Given the description of an element on the screen output the (x, y) to click on. 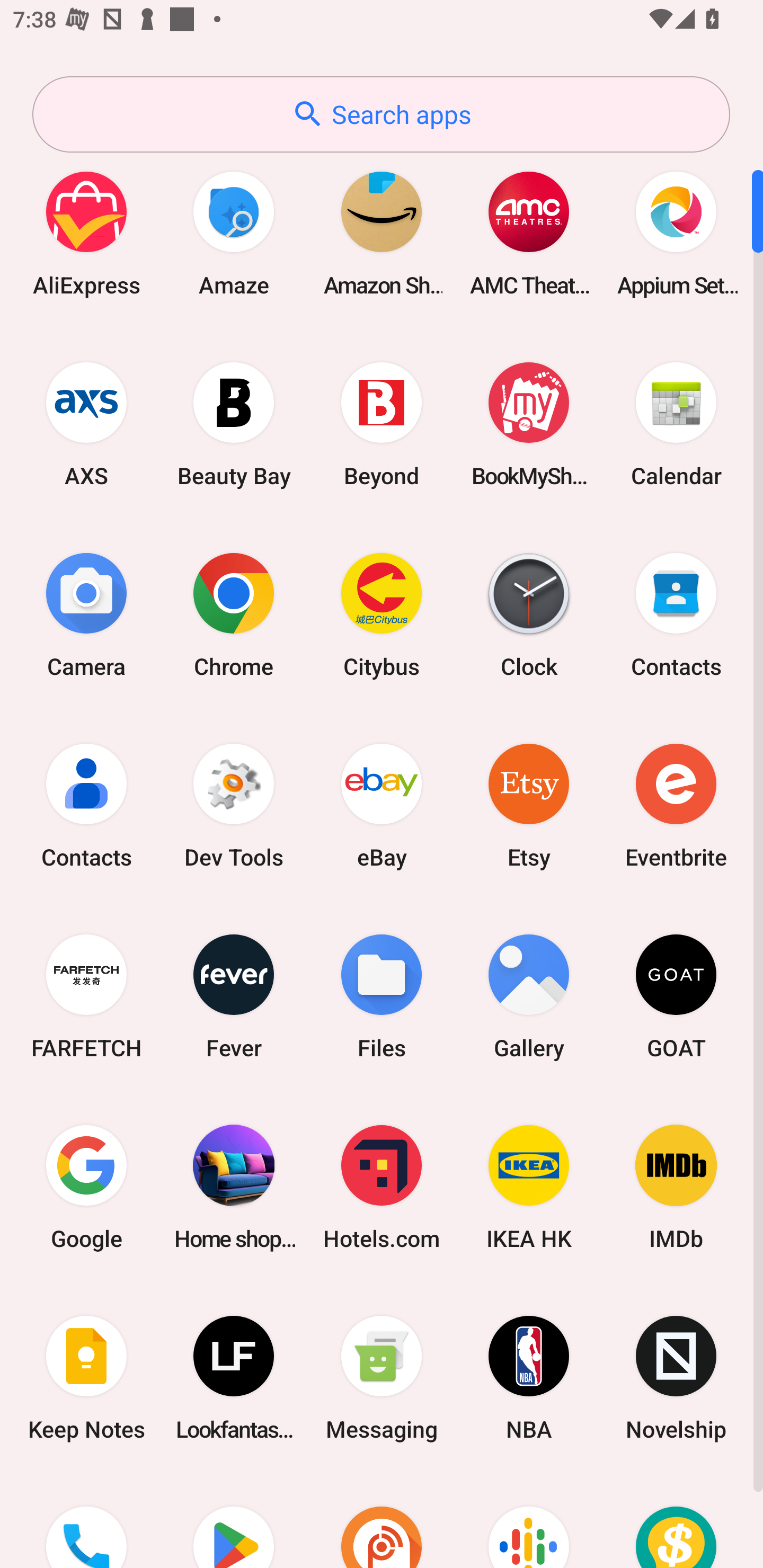
  Search apps (381, 114)
AliExpress (86, 233)
Amaze (233, 233)
Amazon Shopping (381, 233)
AMC Theatres (528, 233)
Appium Settings (676, 233)
AXS (86, 424)
Beauty Bay (233, 424)
Beyond (381, 424)
BookMyShow (528, 424)
Calendar (676, 424)
Camera (86, 614)
Chrome (233, 614)
Citybus (381, 614)
Clock (528, 614)
Contacts (676, 614)
Contacts (86, 805)
Dev Tools (233, 805)
eBay (381, 805)
Etsy (528, 805)
Eventbrite (676, 805)
FARFETCH (86, 996)
Fever (233, 996)
Files (381, 996)
Gallery (528, 996)
GOAT (676, 996)
Google (86, 1186)
Home shopping (233, 1186)
Hotels.com (381, 1186)
IKEA HK (528, 1186)
IMDb (676, 1186)
Keep Notes (86, 1377)
Lookfantastic (233, 1377)
Messaging (381, 1377)
NBA (528, 1377)
Novelship (676, 1377)
Phone (86, 1520)
Play Store (233, 1520)
Podcast Addict (381, 1520)
Podcasts (528, 1520)
Price (676, 1520)
